Given the description of an element on the screen output the (x, y) to click on. 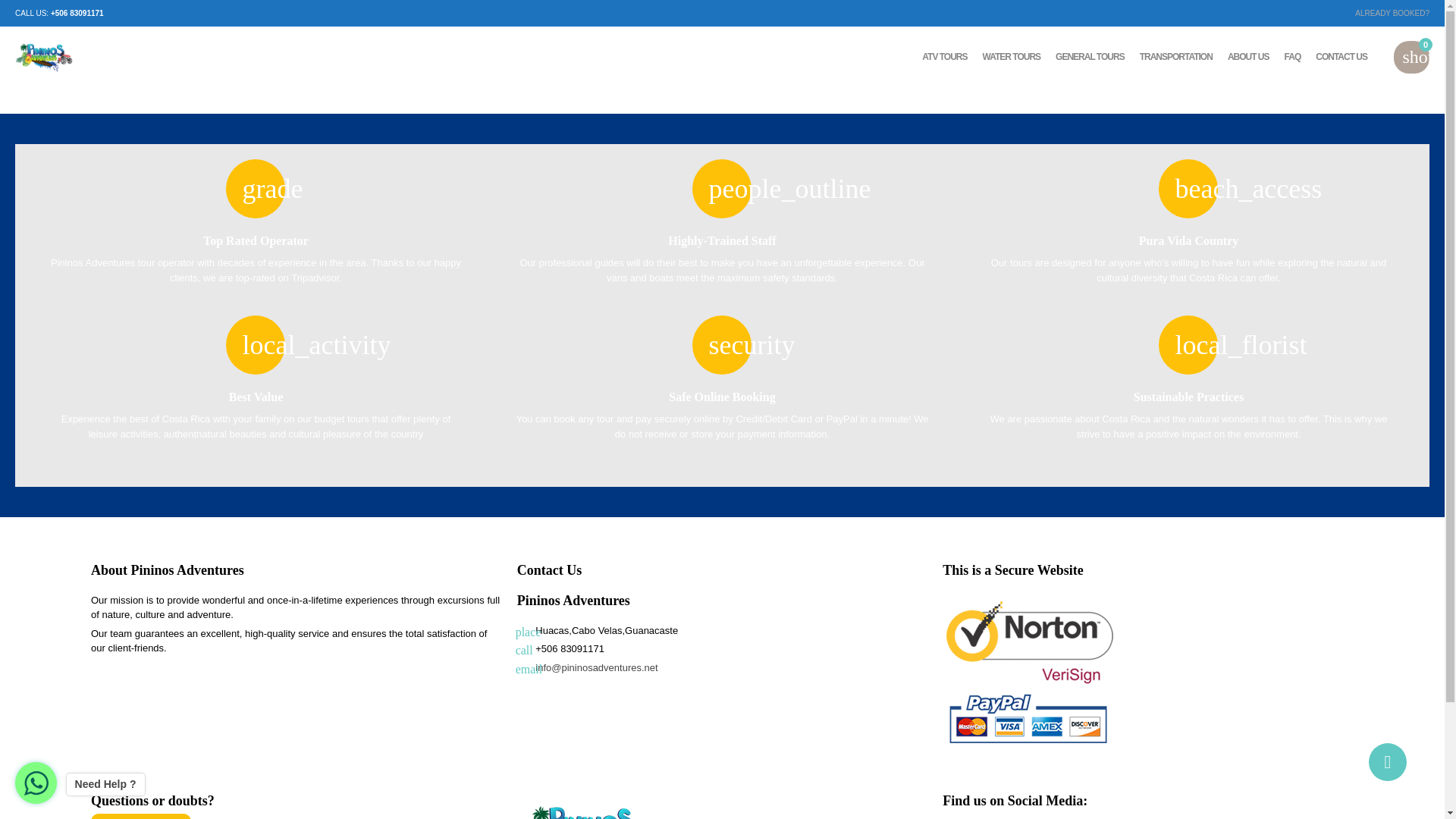
TRANSPORTATION (1176, 56)
ABOUT US (1248, 56)
ATV TOURS (943, 56)
CONTACT US (1341, 56)
Back up (1387, 761)
ALREADY BOOKED? (1392, 13)
WATER TOURS (1011, 56)
Send us an Email (140, 816)
GENERAL TOURS (1089, 56)
